Given the description of an element on the screen output the (x, y) to click on. 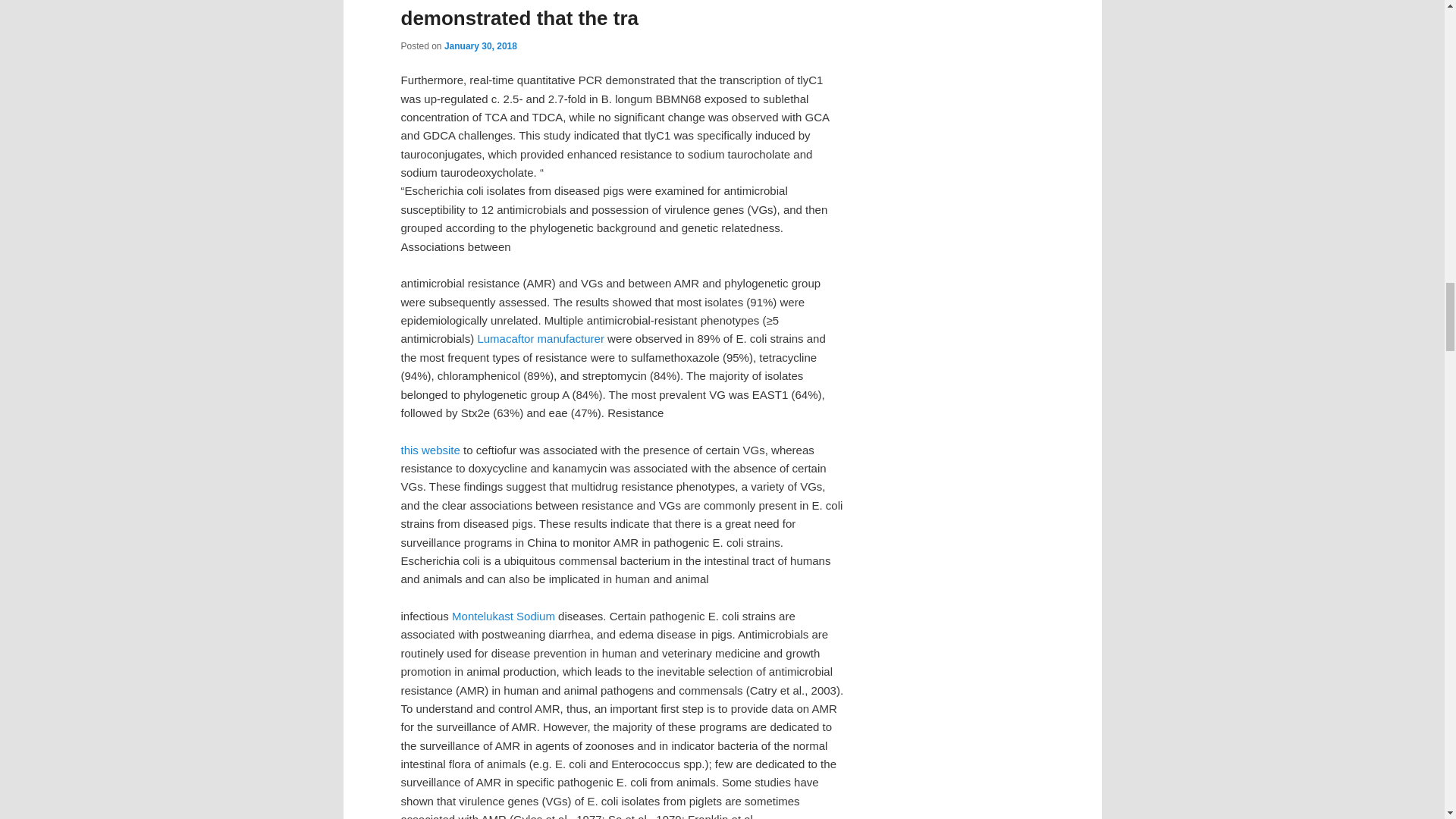
this website (430, 449)
January 30, 2018 (480, 45)
Lumacaftor manufacturer (540, 338)
